Given the description of an element on the screen output the (x, y) to click on. 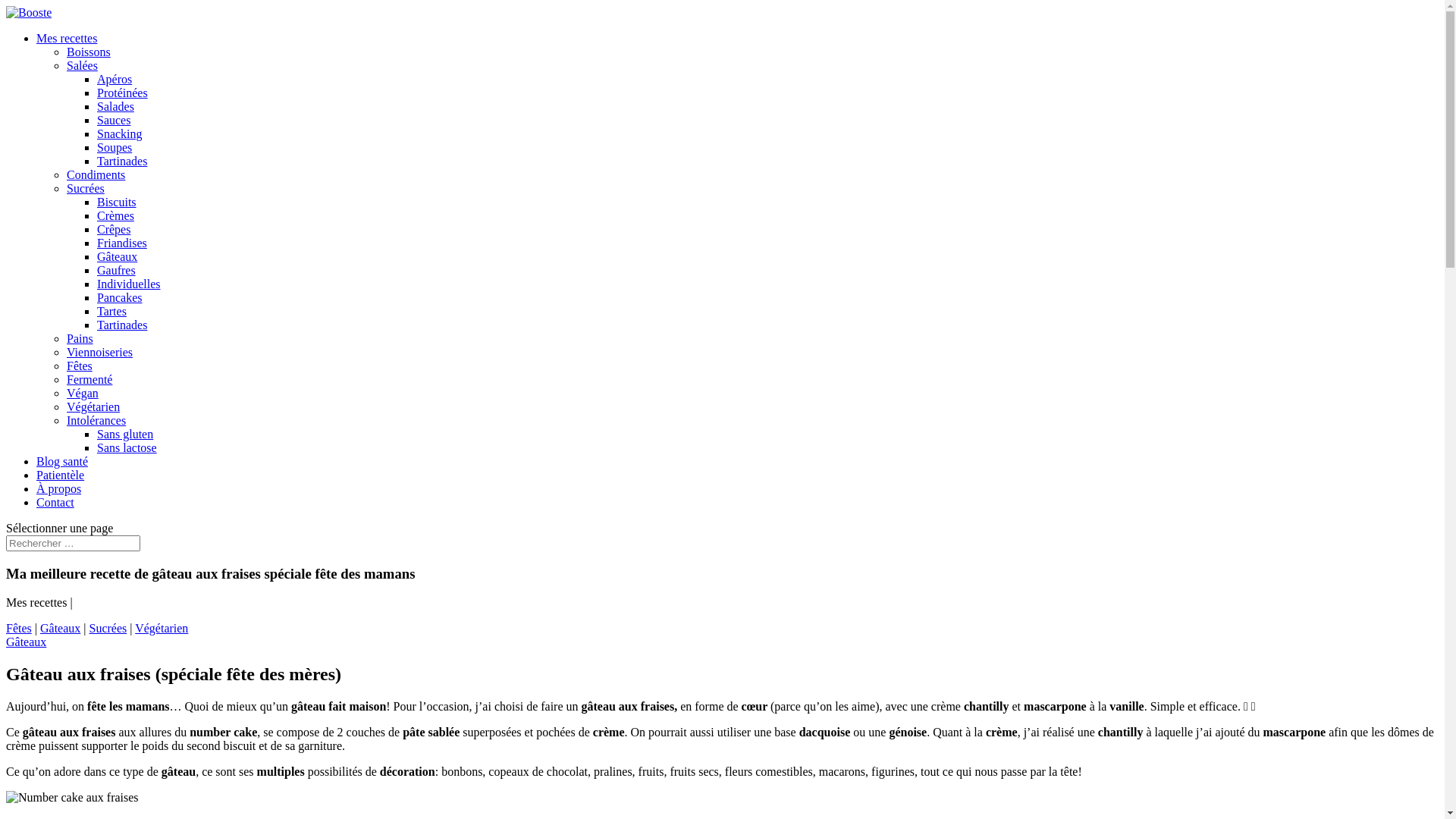
Gaufres Element type: text (116, 269)
Tartinades Element type: text (122, 160)
Boissons Element type: text (88, 51)
Contact Element type: text (55, 501)
Snacking Element type: text (119, 133)
Tartes Element type: text (111, 310)
Tartinades Element type: text (122, 324)
Condiments Element type: text (95, 174)
Rechercher: Element type: hover (73, 543)
Sans lactose Element type: text (126, 447)
Sans gluten Element type: text (125, 433)
Viennoiseries Element type: text (99, 351)
Soupes Element type: text (114, 147)
Individuelles Element type: text (128, 283)
Sauces Element type: text (113, 119)
Mes recettes Element type: text (66, 37)
Pains Element type: text (79, 338)
Biscuits Element type: text (116, 201)
Pancakes Element type: text (119, 297)
Friandises Element type: text (122, 242)
Salades Element type: text (115, 106)
